Given the description of an element on the screen output the (x, y) to click on. 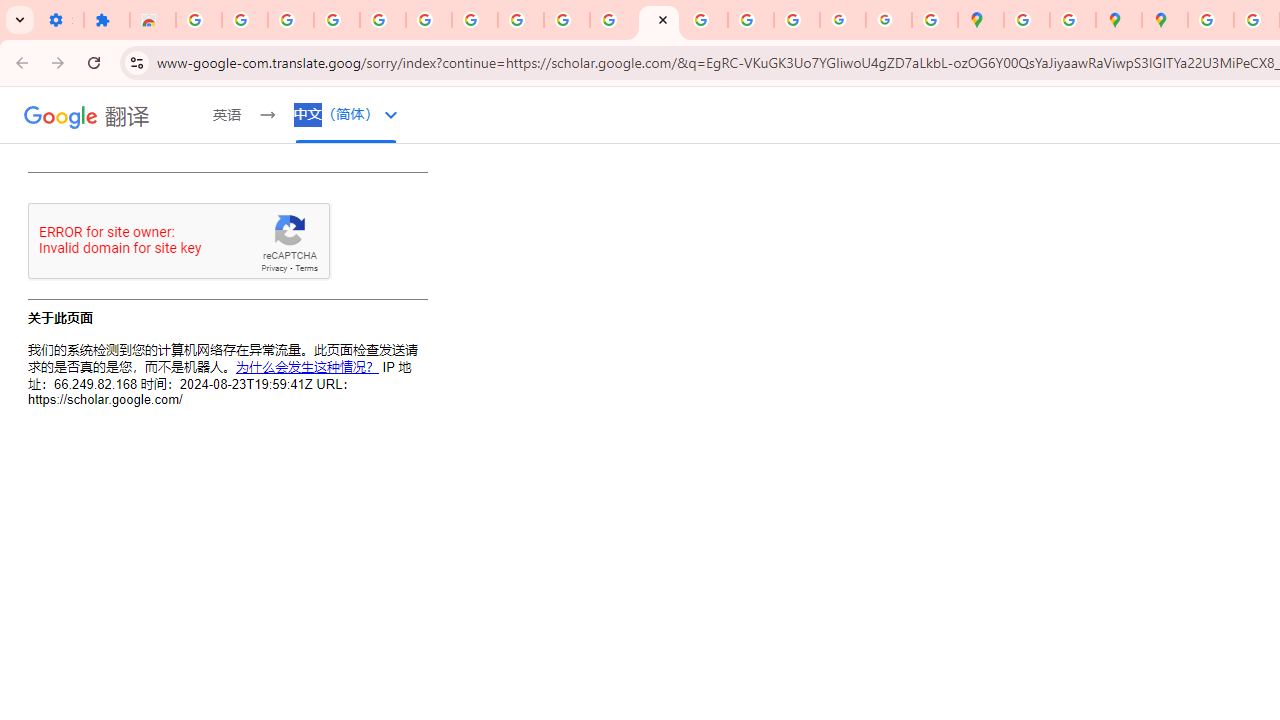
Delete photos & videos - Computer - Google Photos Help (290, 20)
Google Maps (980, 20)
Google Account (520, 20)
Safety in Our Products - Google Safety Center (1072, 20)
YouTube (567, 20)
Sign in - Google Accounts (428, 20)
